Given the description of an element on the screen output the (x, y) to click on. 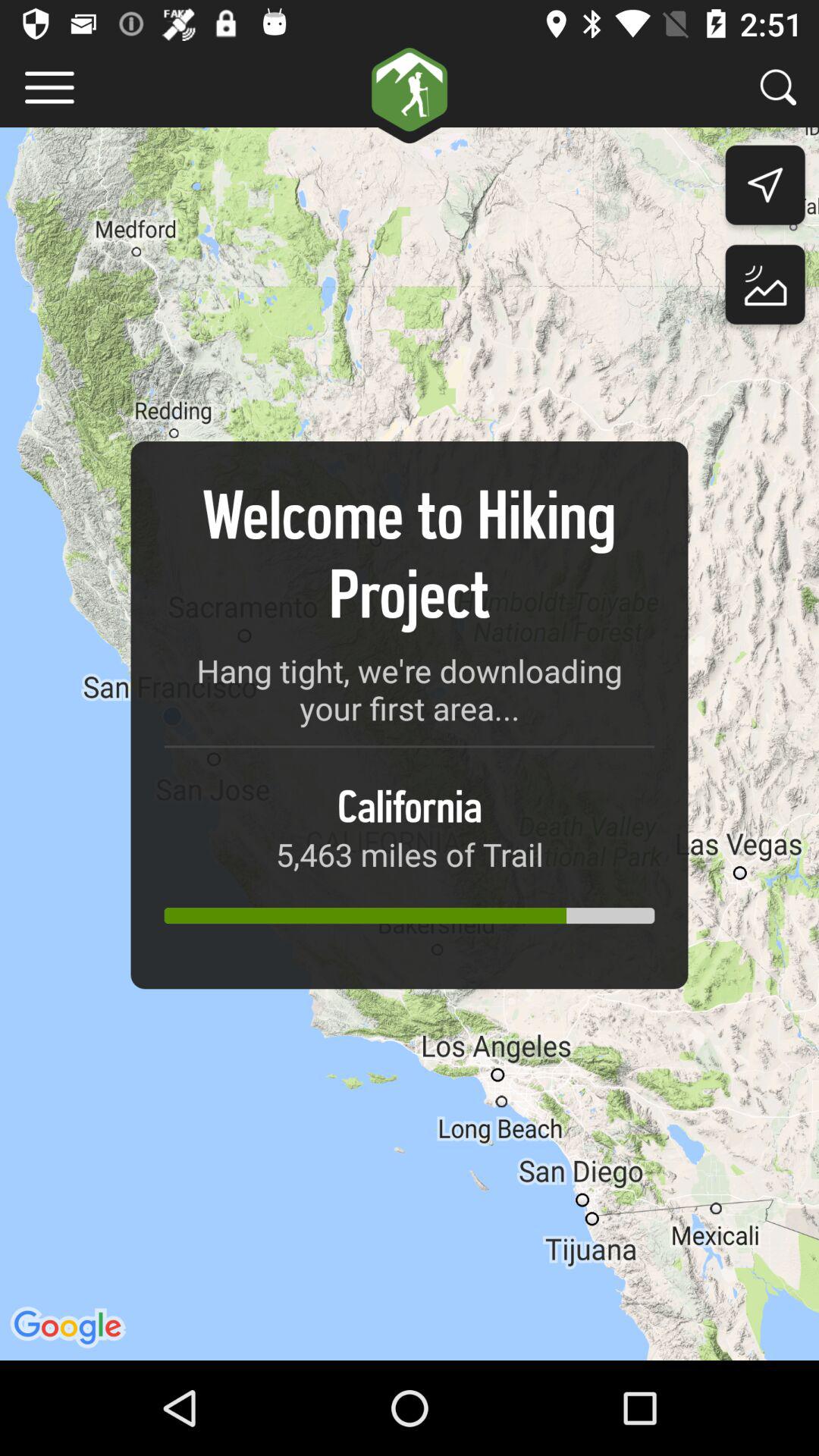
search more projects (778, 87)
